Given the description of an element on the screen output the (x, y) to click on. 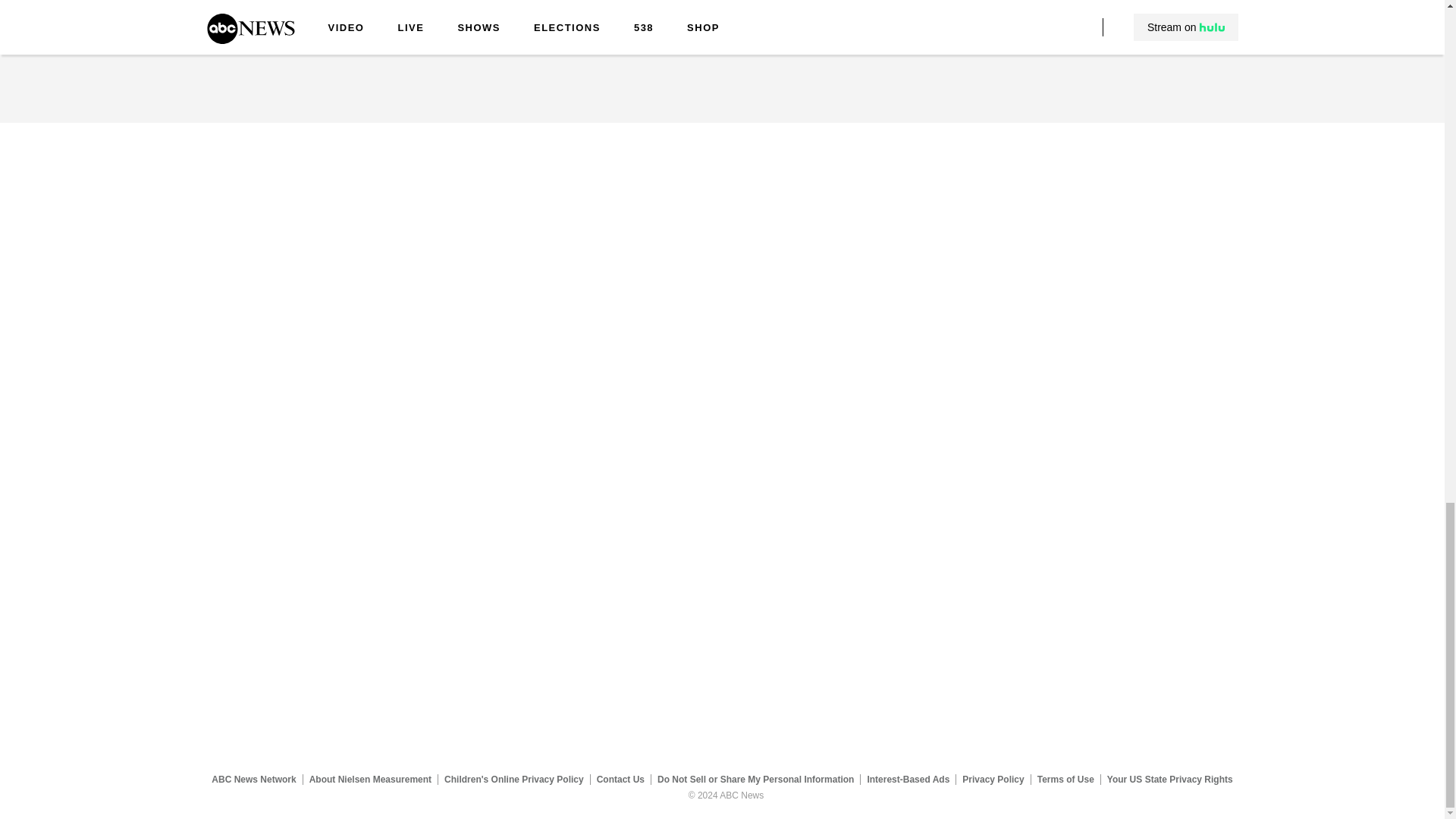
Interest-Based Ads (908, 778)
About Nielsen Measurement (370, 778)
Contact Us (620, 778)
Children's Online Privacy Policy (514, 778)
Privacy Policy (993, 778)
ABC News Network (253, 778)
Do Not Sell or Share My Personal Information (755, 778)
Terms of Use (1065, 778)
Your US State Privacy Rights (1169, 778)
